Given the description of an element on the screen output the (x, y) to click on. 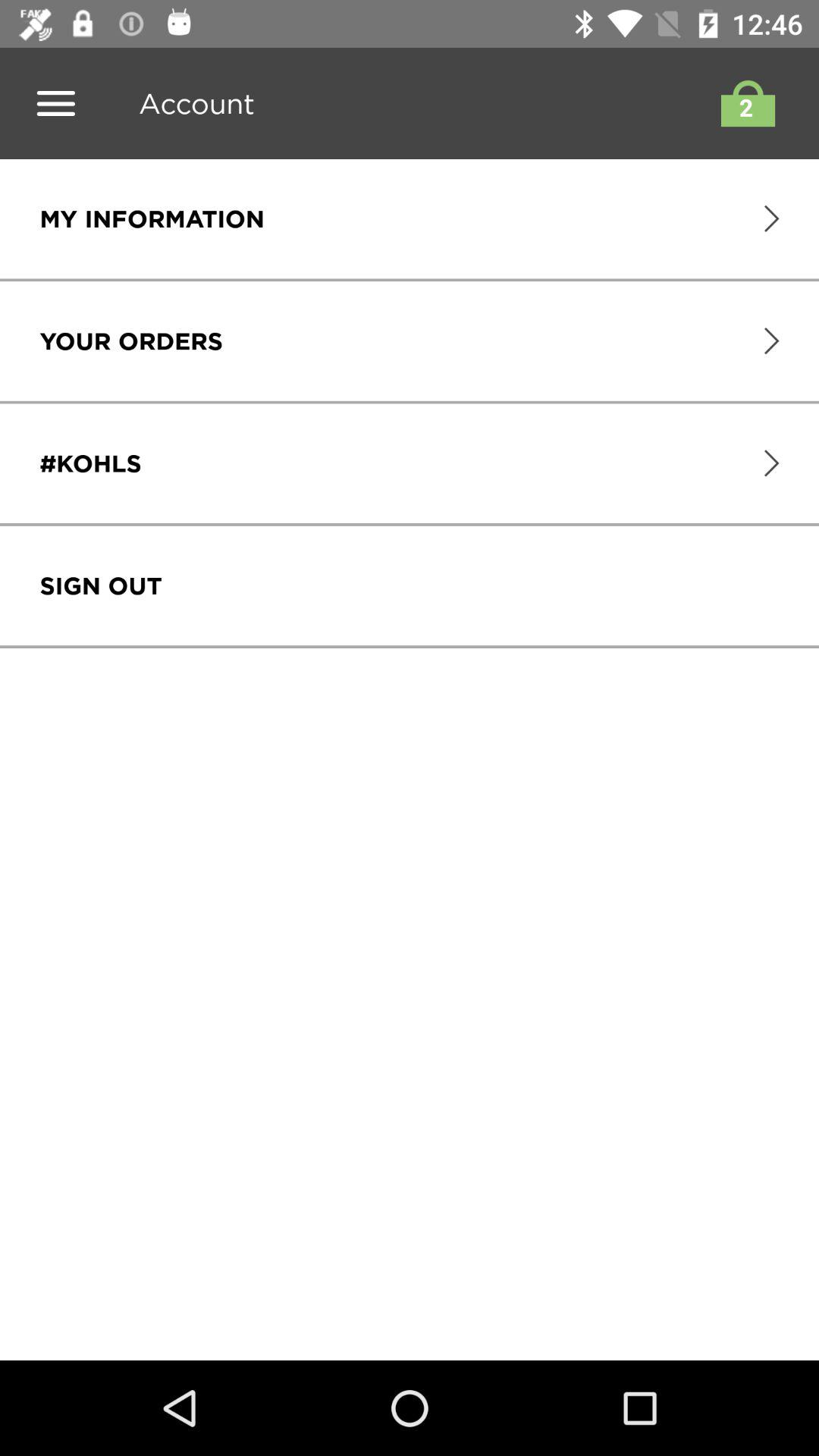
choose the your orders icon (130, 340)
